Given the description of an element on the screen output the (x, y) to click on. 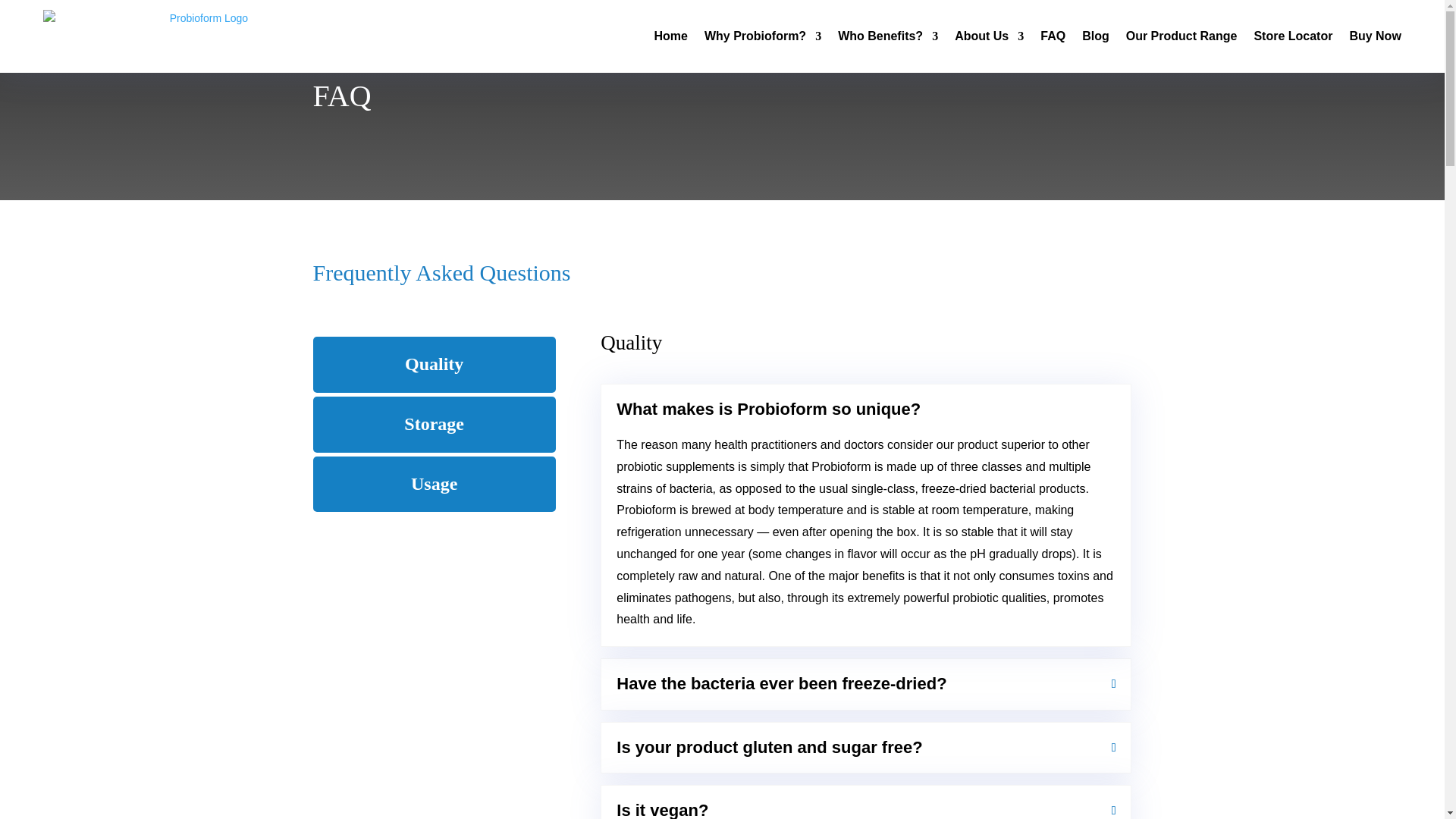
Why Probioform? (762, 36)
Our Product Range (1181, 36)
Store Locator (1292, 36)
About Us (989, 36)
Buy Now (1374, 36)
Who Benefits? (887, 36)
